Given the description of an element on the screen output the (x, y) to click on. 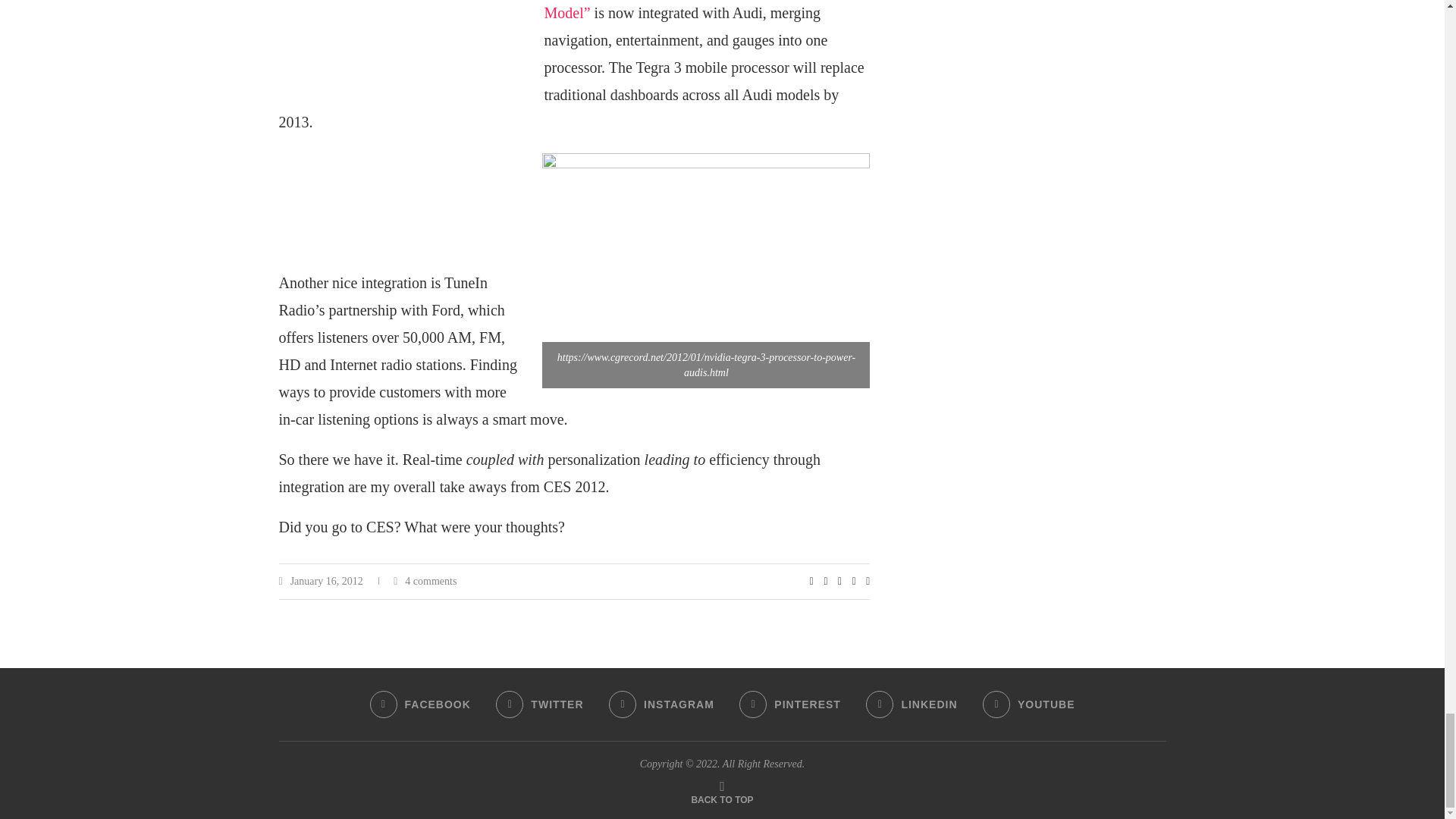
Like (811, 581)
